Given the description of an element on the screen output the (x, y) to click on. 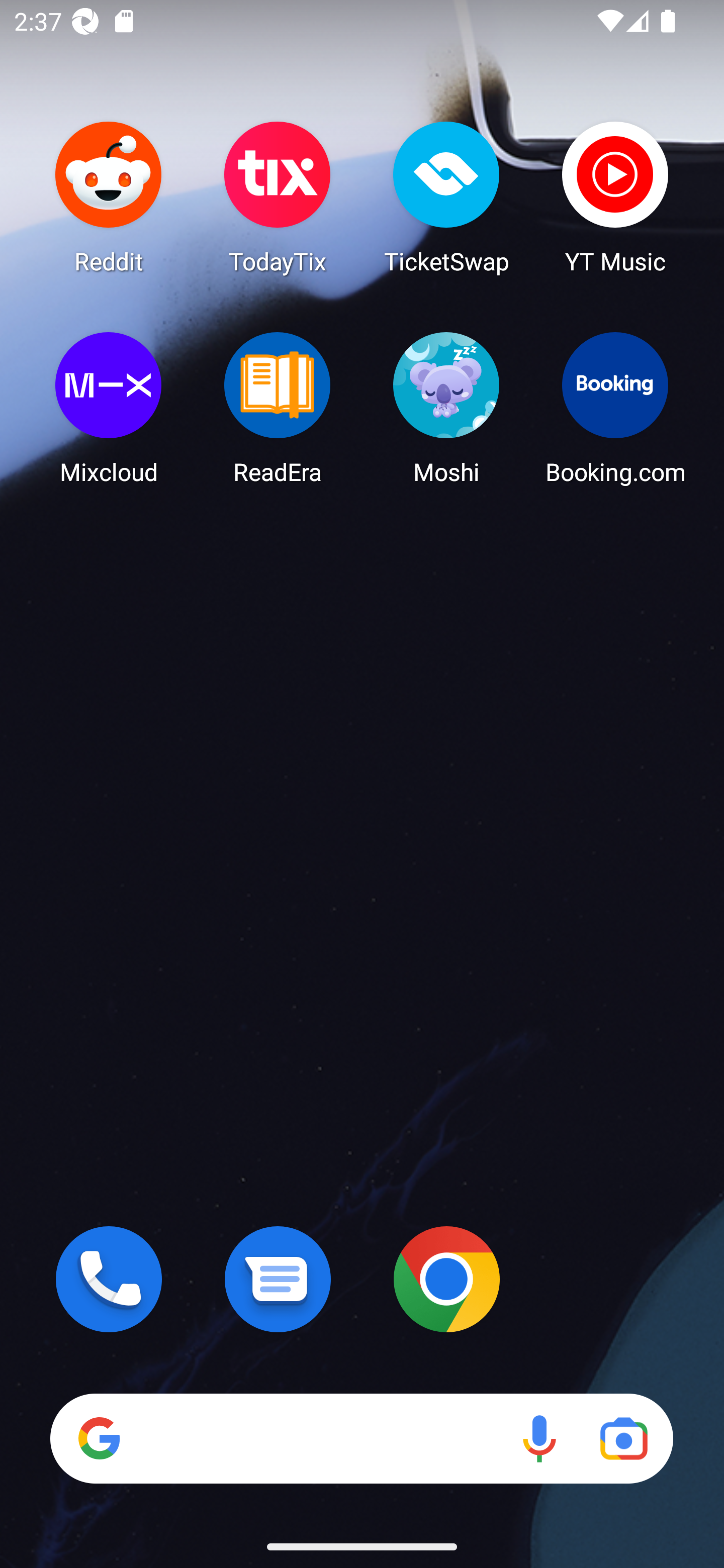
Reddit (108, 196)
TodayTix (277, 196)
TicketSwap (445, 196)
YT Music (615, 196)
Mixcloud (108, 407)
ReadEra (277, 407)
Moshi (445, 407)
Booking.com (615, 407)
Phone (108, 1279)
Messages (277, 1279)
Chrome (446, 1279)
Search Voice search Google Lens (361, 1438)
Voice search (539, 1438)
Google Lens (623, 1438)
